Given the description of an element on the screen output the (x, y) to click on. 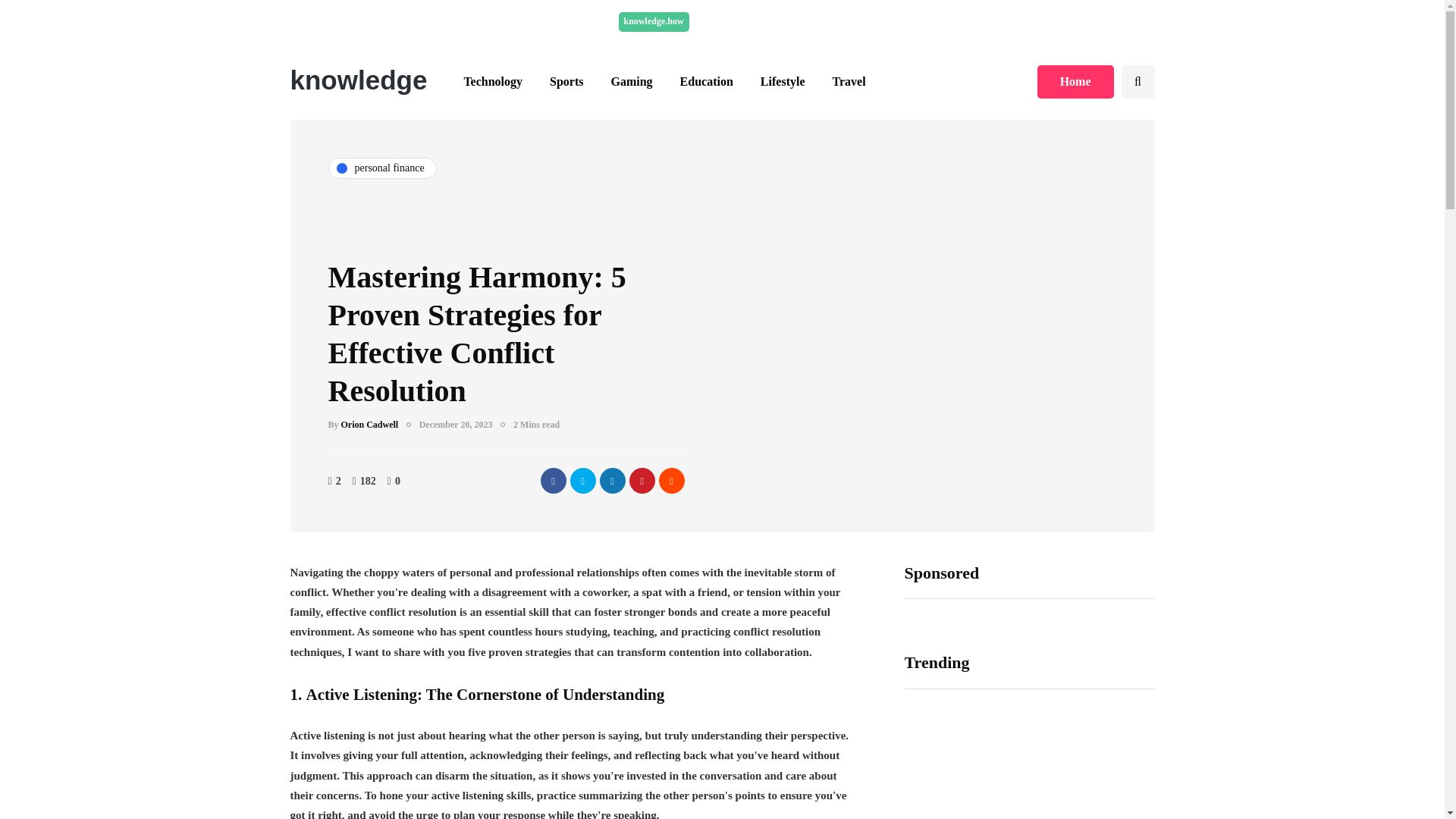
Share with Facebook (553, 480)
Share with LinkedIn (611, 480)
Home (1074, 81)
Orion Cadwell (369, 424)
Tweet this (582, 480)
Posts by Orion Cadwell (369, 424)
knowledge (357, 80)
Lifestyle (782, 81)
Gaming (630, 81)
Share on Reddit (671, 480)
